Given the description of an element on the screen output the (x, y) to click on. 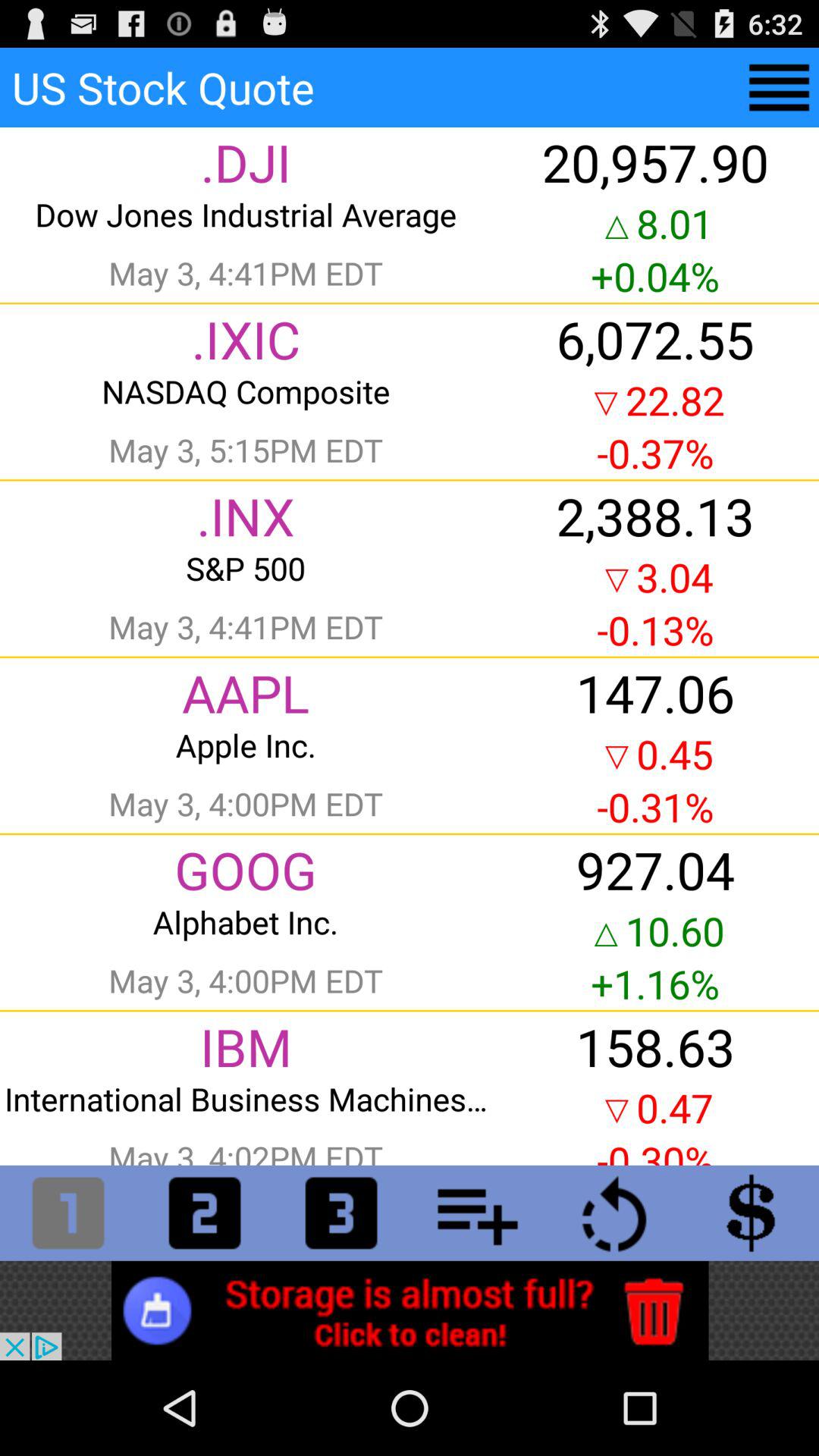
select option 3 (341, 1212)
